Given the description of an element on the screen output the (x, y) to click on. 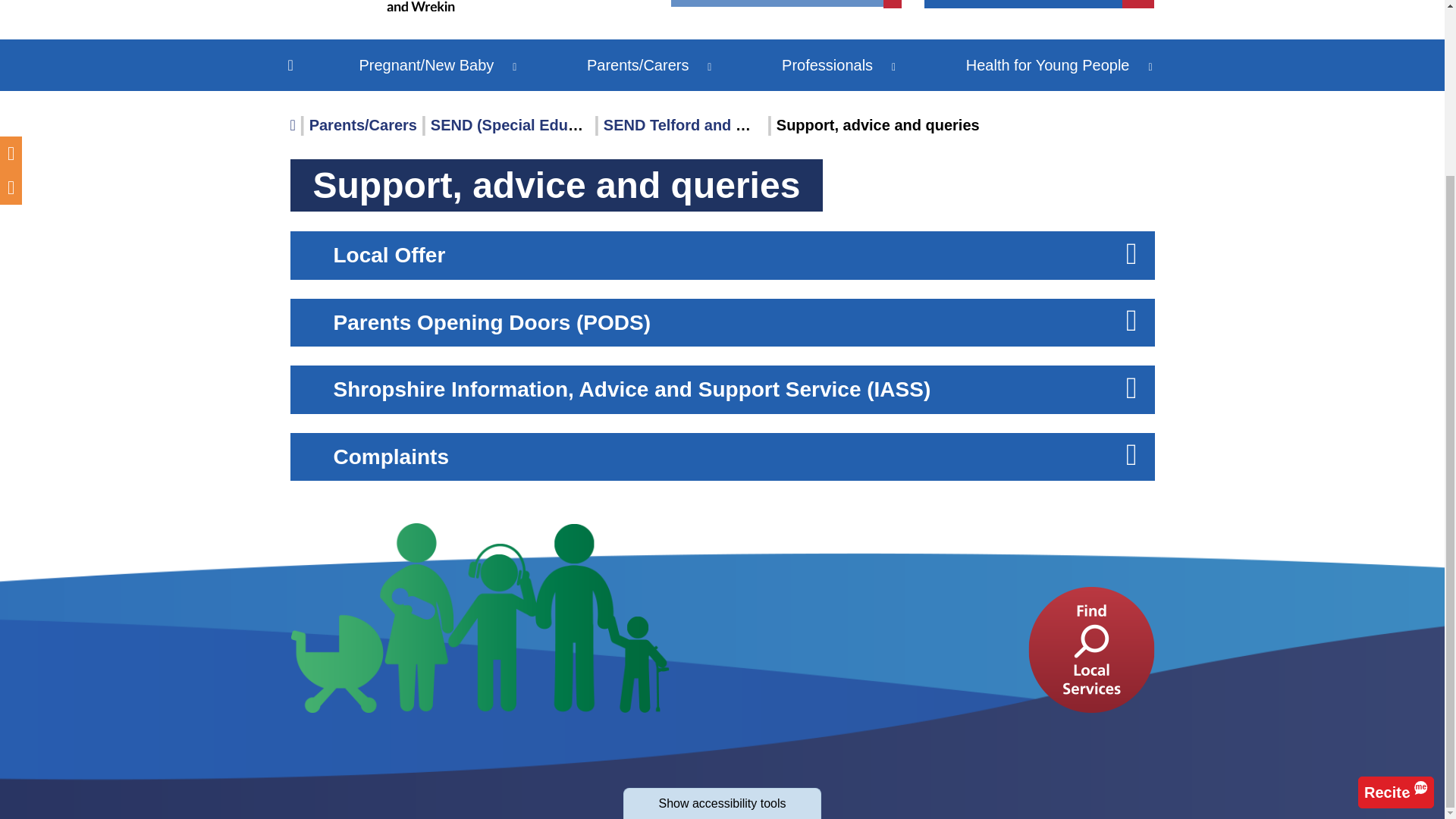
Show accessibility tools (722, 589)
Find a local service (1090, 649)
Search (1138, 4)
Homepage (425, 5)
Recite me (1396, 578)
